Given the description of an element on the screen output the (x, y) to click on. 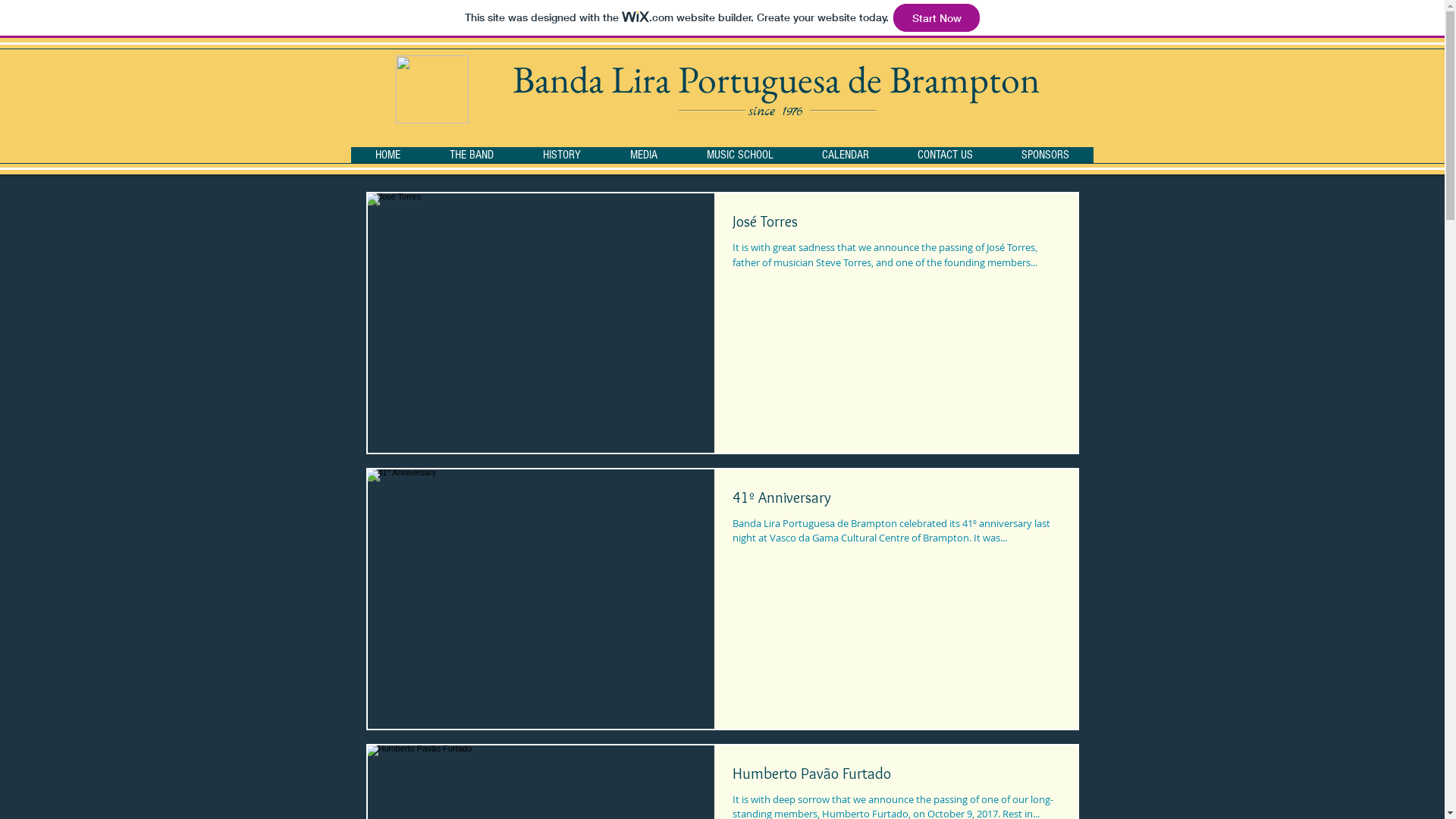
CONTACT US Element type: text (945, 159)
HOME Element type: text (387, 159)
CALENDAR Element type: text (845, 159)
SPONSORS Element type: text (1044, 159)
THE BAND Element type: text (470, 159)
HISTORY Element type: text (561, 159)
MUSIC SCHOOL Element type: text (739, 159)
MEDIA Element type: text (643, 159)
Lira.png Element type: hover (431, 89)
